Given the description of an element on the screen output the (x, y) to click on. 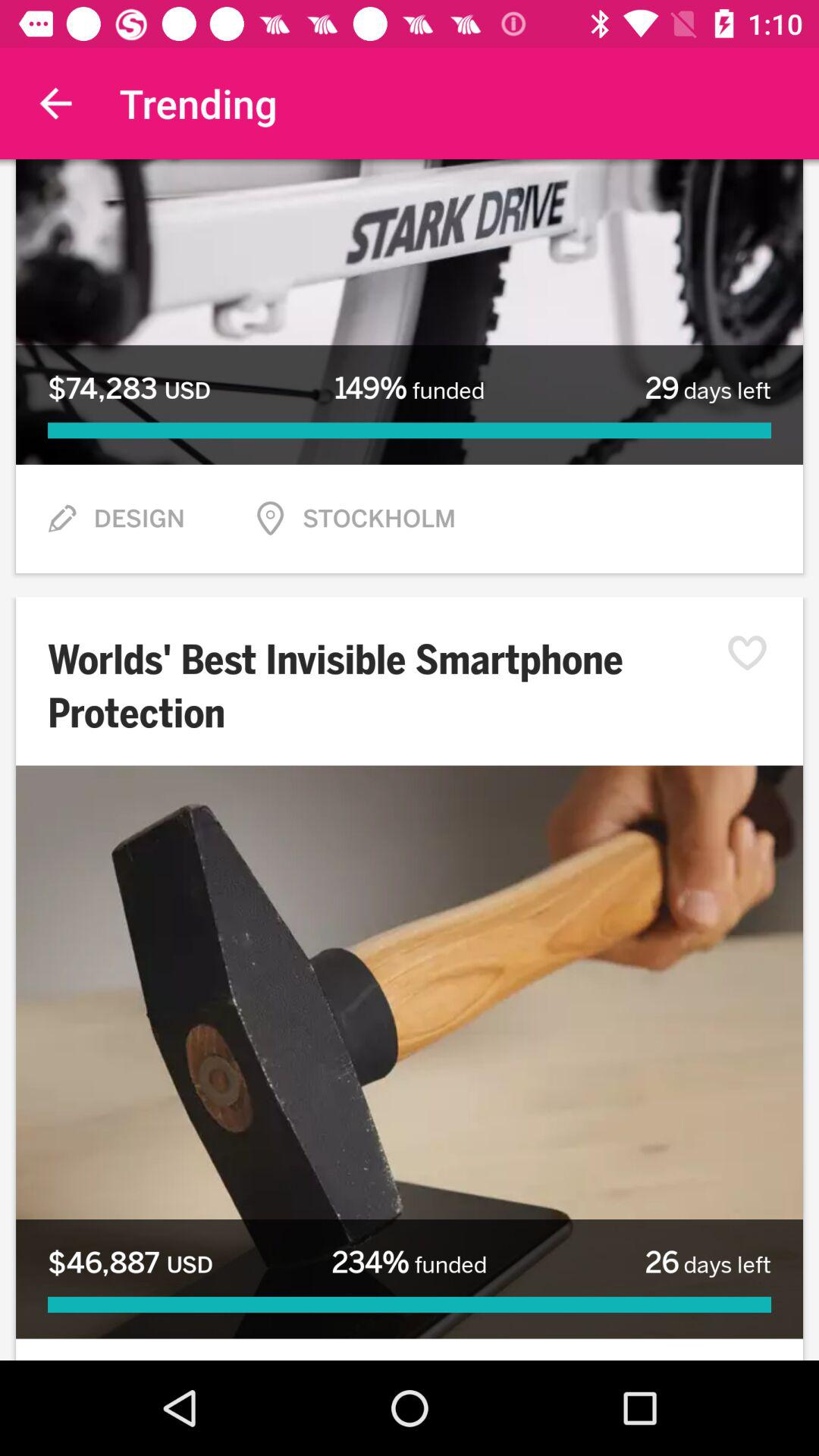
press design item (138, 518)
